Given the description of an element on the screen output the (x, y) to click on. 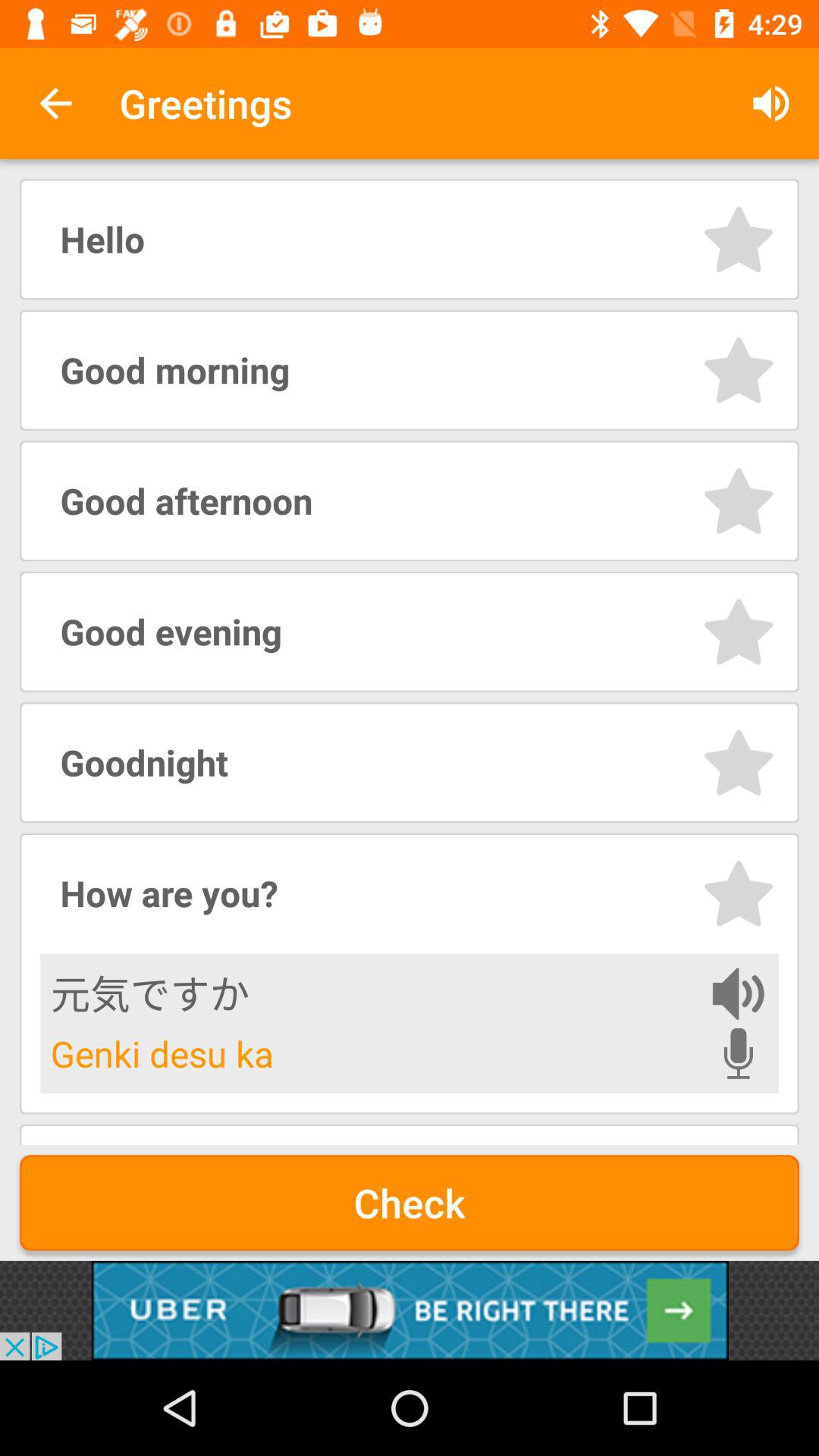
add to favorites (738, 370)
